Given the description of an element on the screen output the (x, y) to click on. 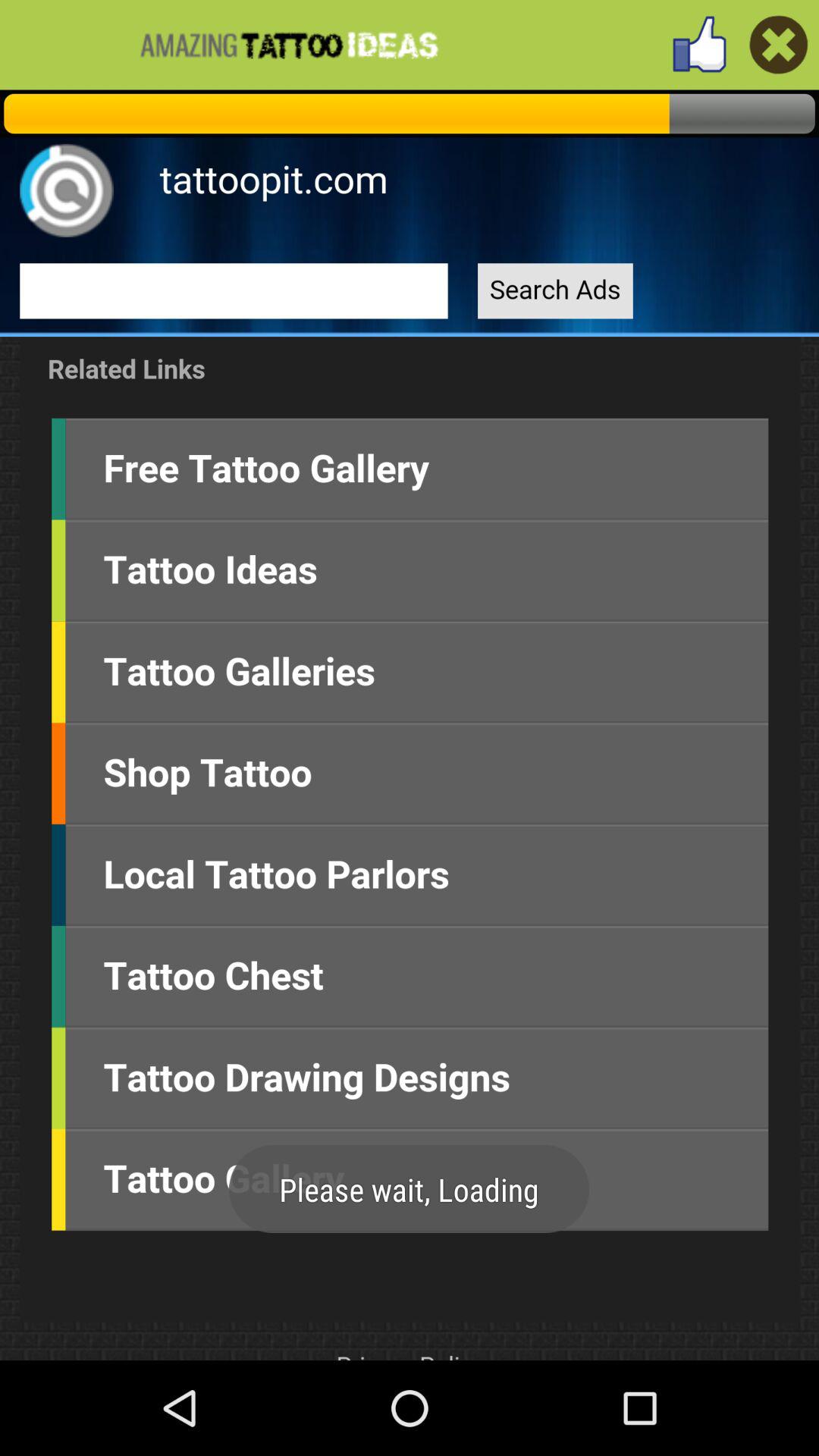
exit page (778, 44)
